Given the description of an element on the screen output the (x, y) to click on. 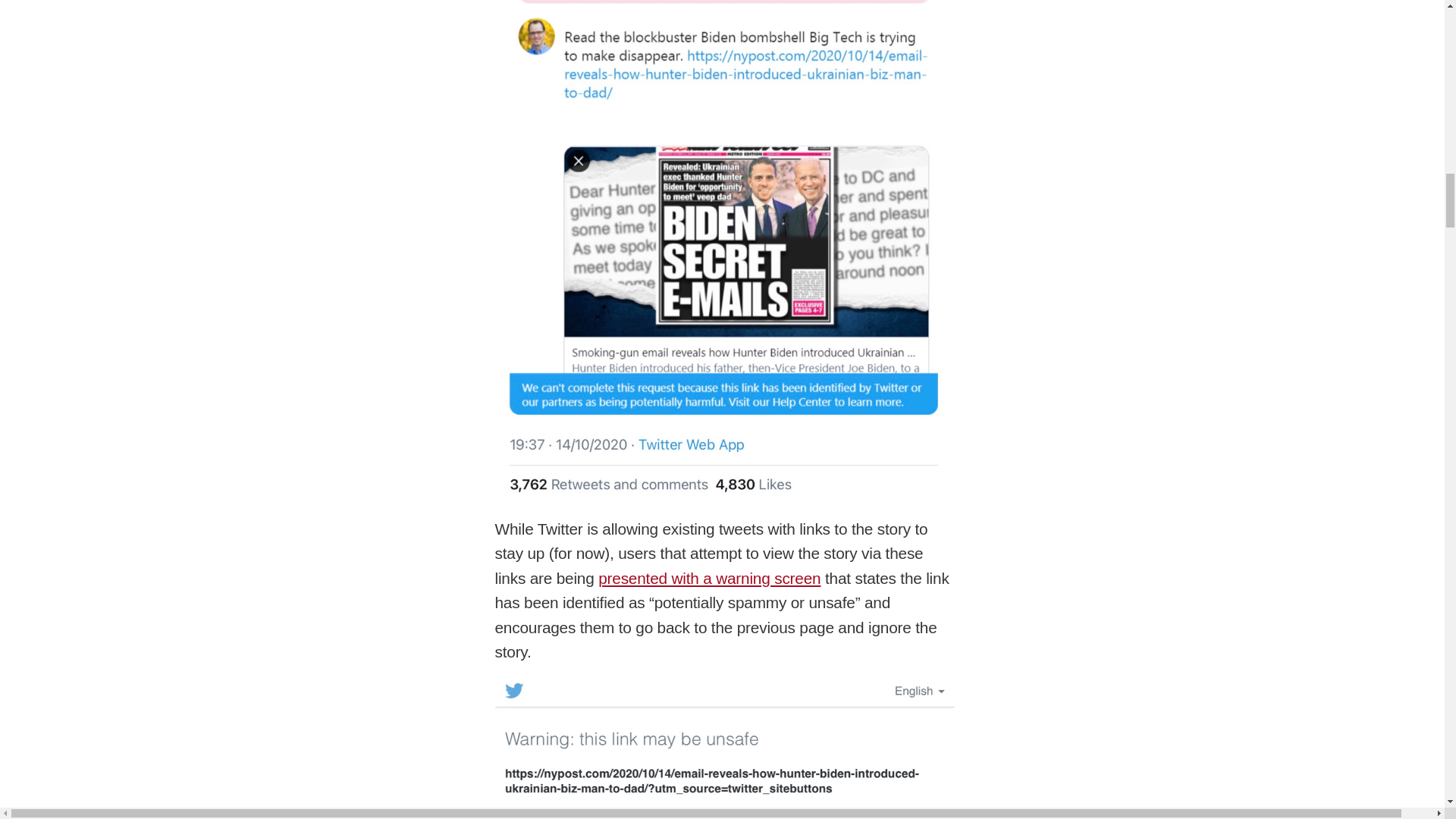
presented with a warning screen (709, 578)
